Given the description of an element on the screen output the (x, y) to click on. 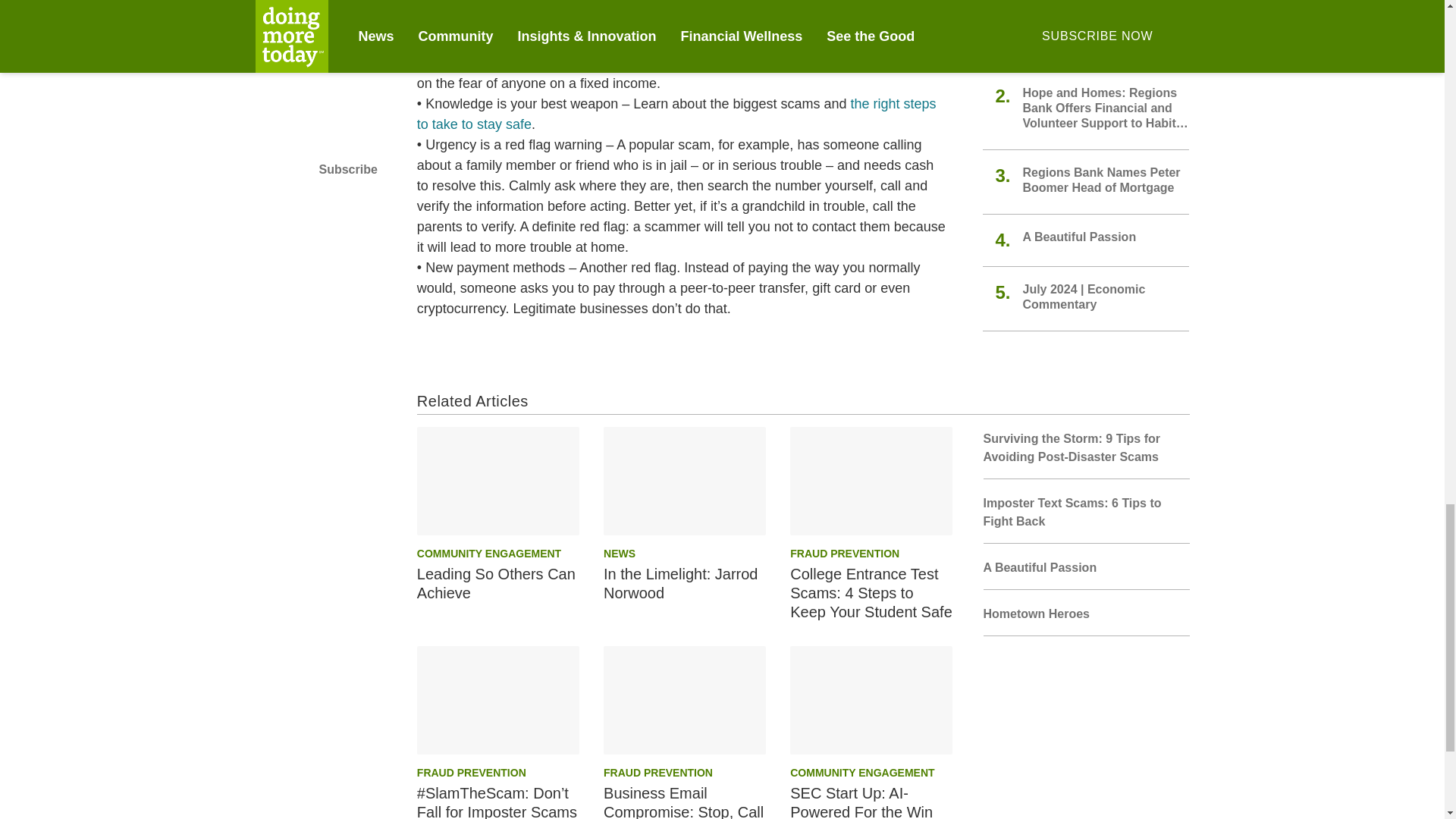
SEC Start Up: AI-Powered For the Win (871, 700)
Leading So Others Can Achieve (497, 480)
In the Limelight: Jarrod Norwood (684, 480)
Business Email Compromise: Stop, Call and Confirm (684, 700)
the right steps to take to stay safe (676, 114)
